Given the description of an element on the screen output the (x, y) to click on. 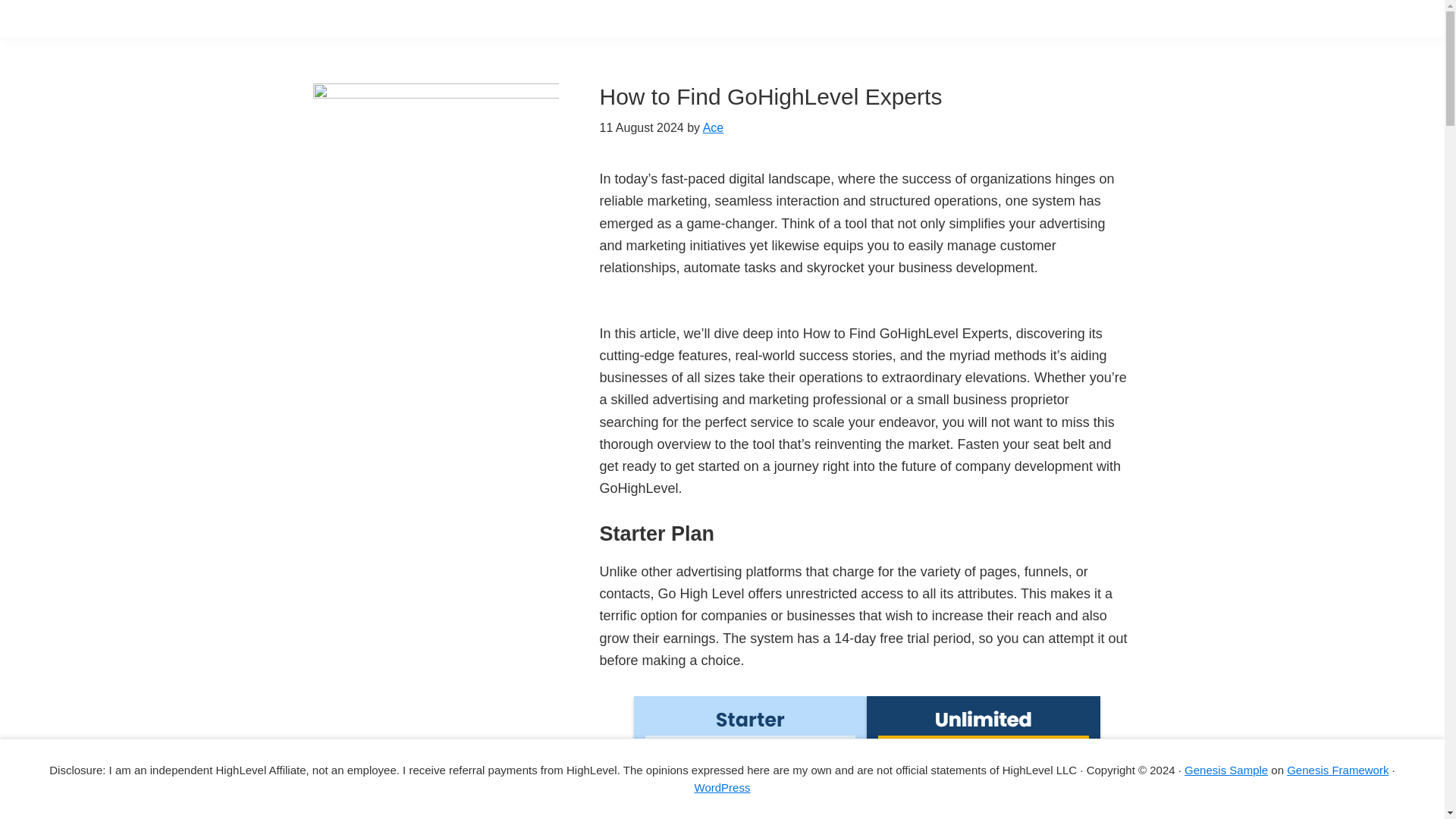
Genesis Framework (1338, 769)
WordPress (722, 787)
Ace (713, 127)
Genesis Sample (1226, 769)
